Given the description of an element on the screen output the (x, y) to click on. 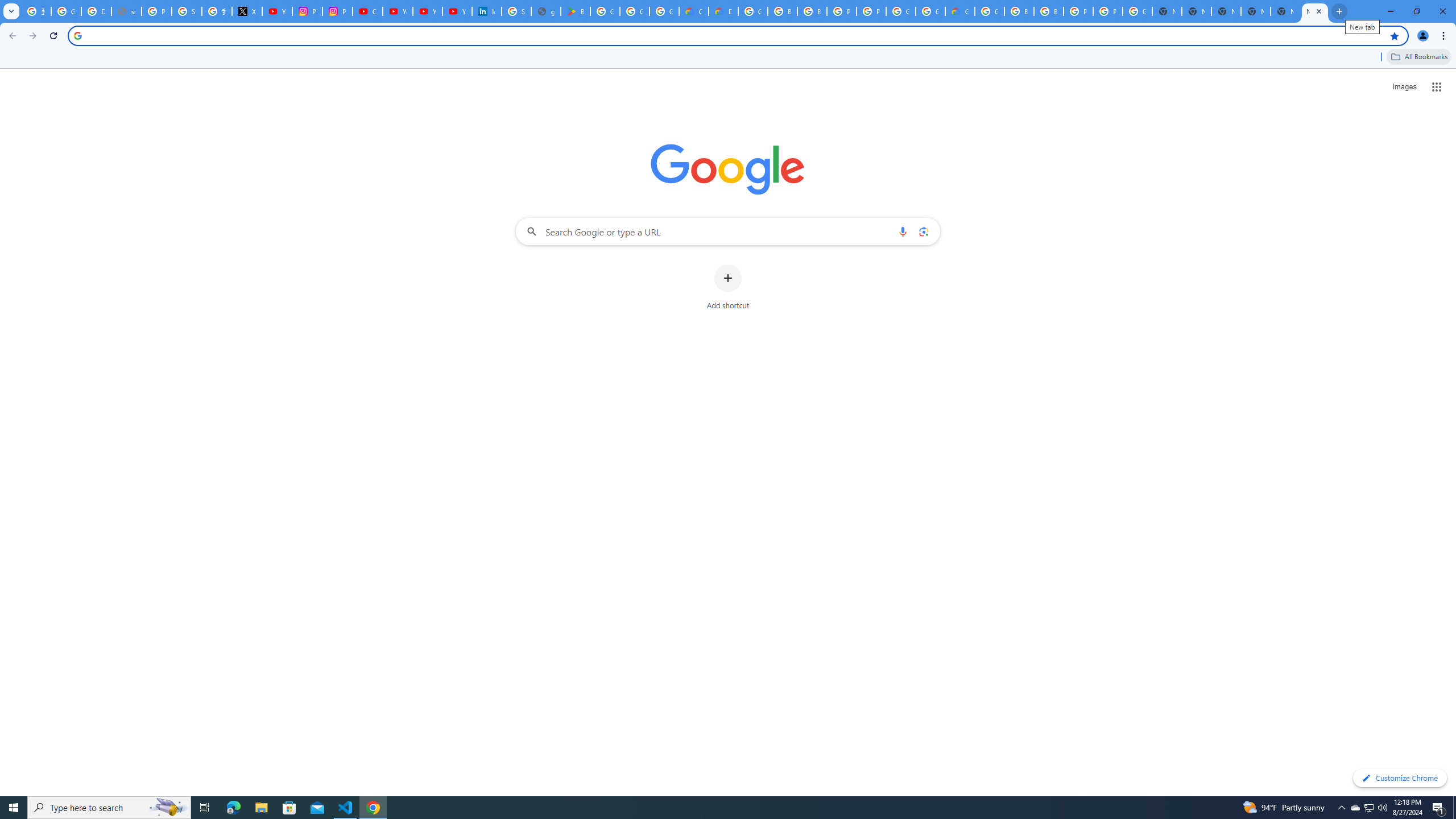
Browse Chrome as a guest - Computer - Google Chrome Help (1048, 11)
New Tab (1255, 11)
Google Cloud Platform (930, 11)
Search by voice (902, 230)
Google Workspace - Specific Terms (634, 11)
YouTube Culture & Trends - YouTube Top 10, 2021 (456, 11)
YouTube Culture & Trends - YouTube Top 10, 2021 (426, 11)
Identity verification via Persona | LinkedIn Help (486, 11)
Google Cloud Platform (753, 11)
Search by image (922, 230)
